Given the description of an element on the screen output the (x, y) to click on. 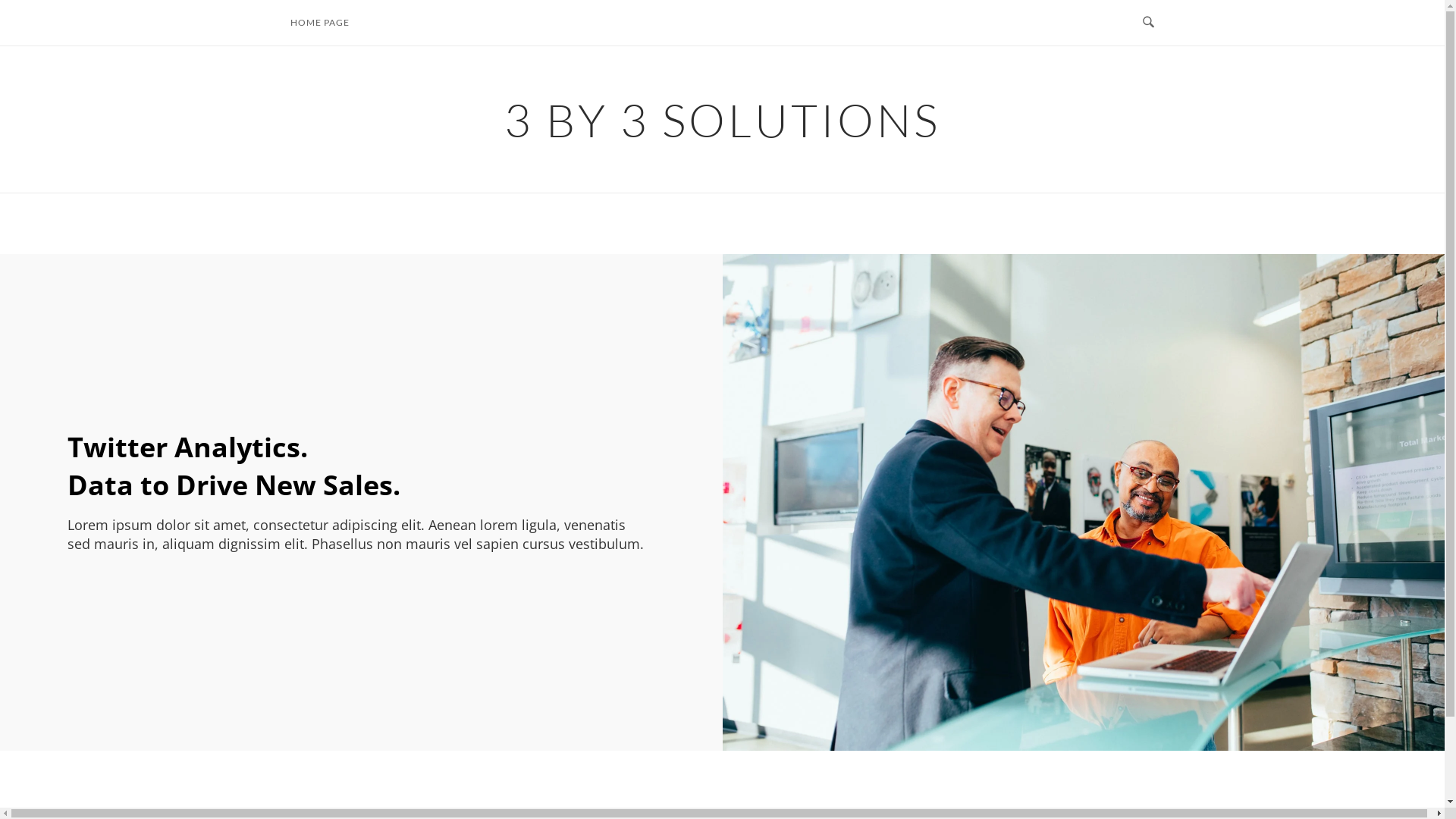
Home Page Element type: hover (1085, 502)
HOME PAGE Element type: text (319, 22)
3 BY 3 SOLUTIONS Element type: text (722, 119)
